Given the description of an element on the screen output the (x, y) to click on. 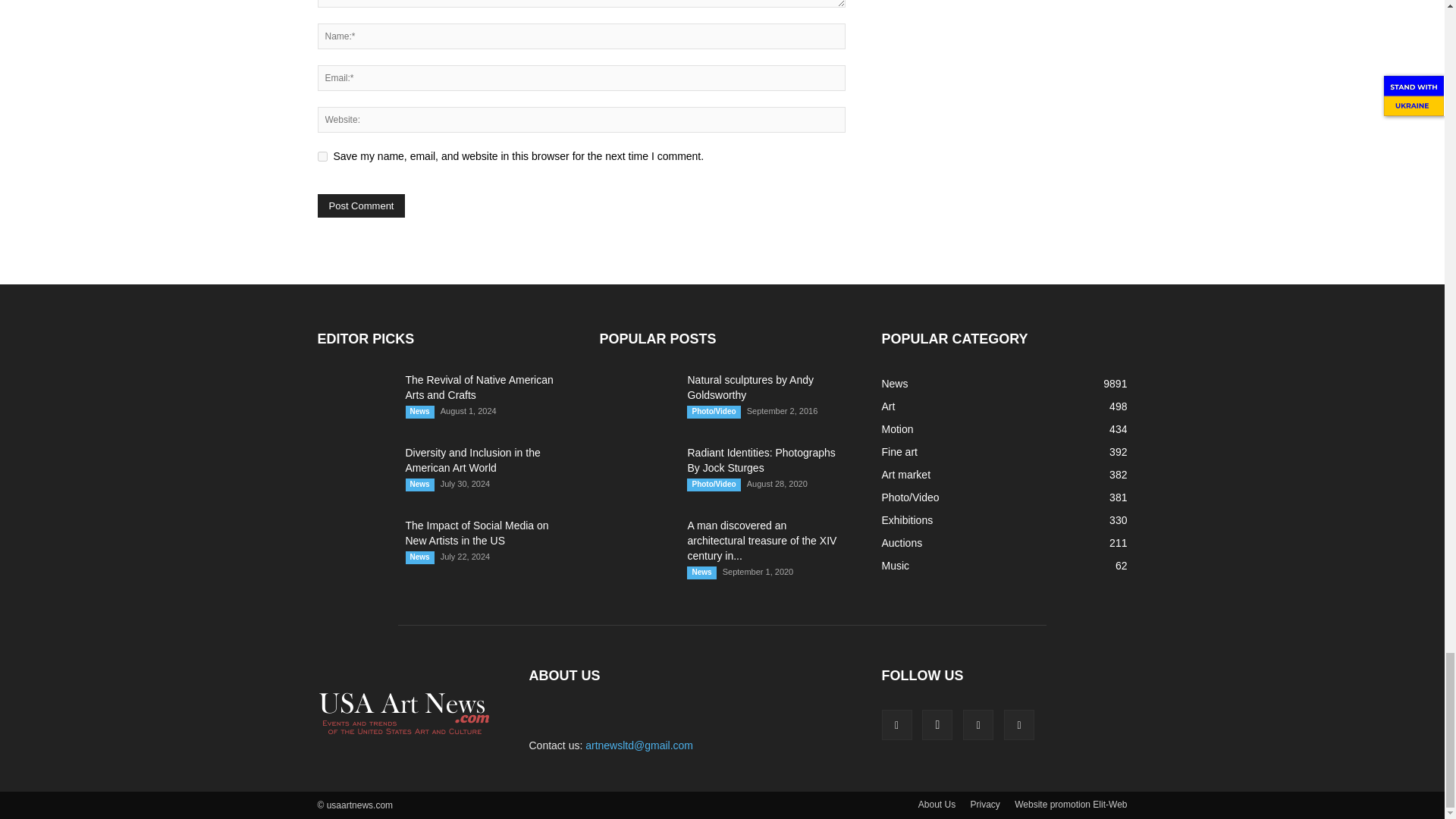
yes (321, 156)
Post Comment (360, 205)
